Given the description of an element on the screen output the (x, y) to click on. 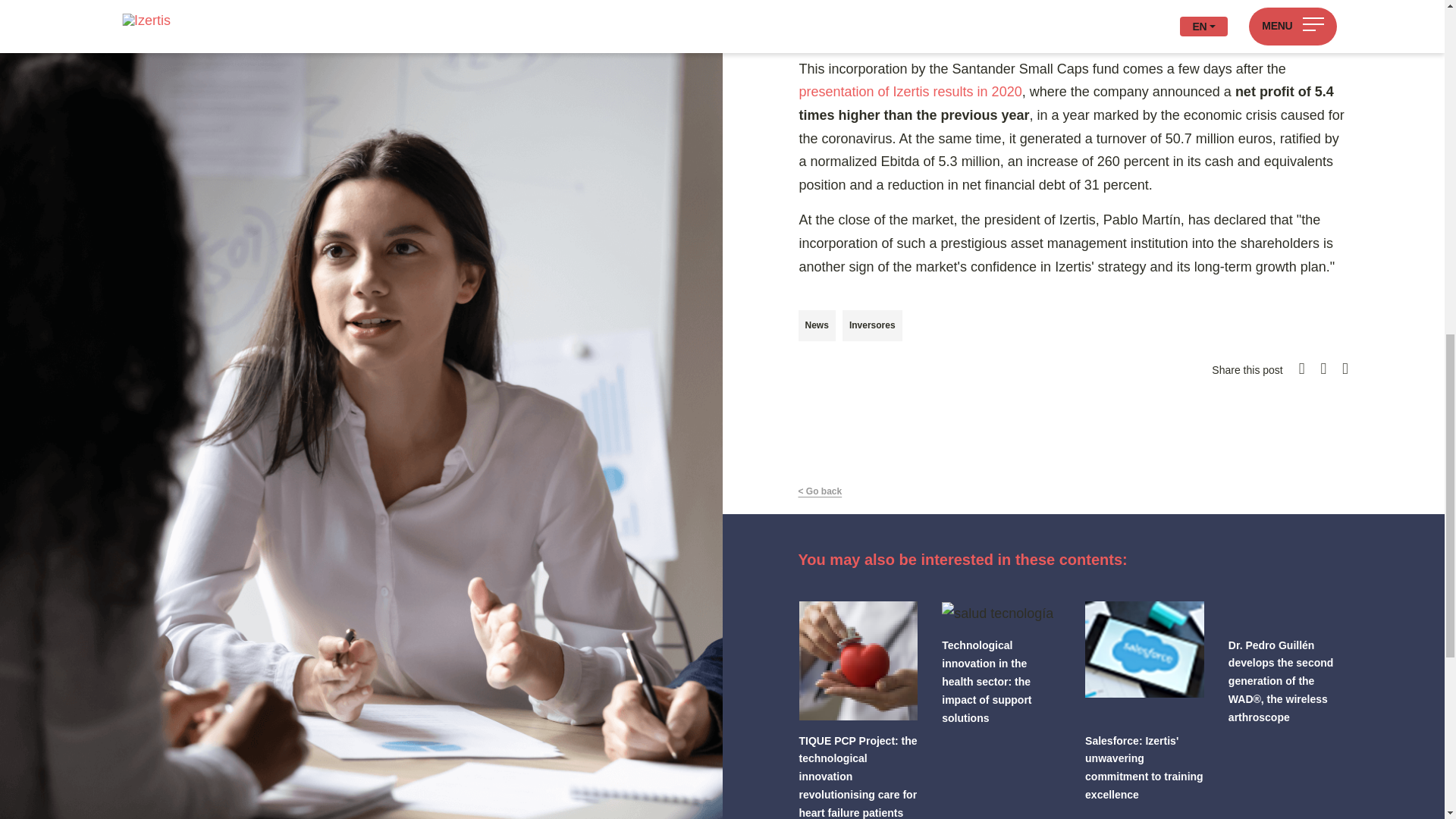
presentation of Izertis results in 2020 (910, 91)
News (815, 325)
Inversores (872, 325)
